Given the description of an element on the screen output the (x, y) to click on. 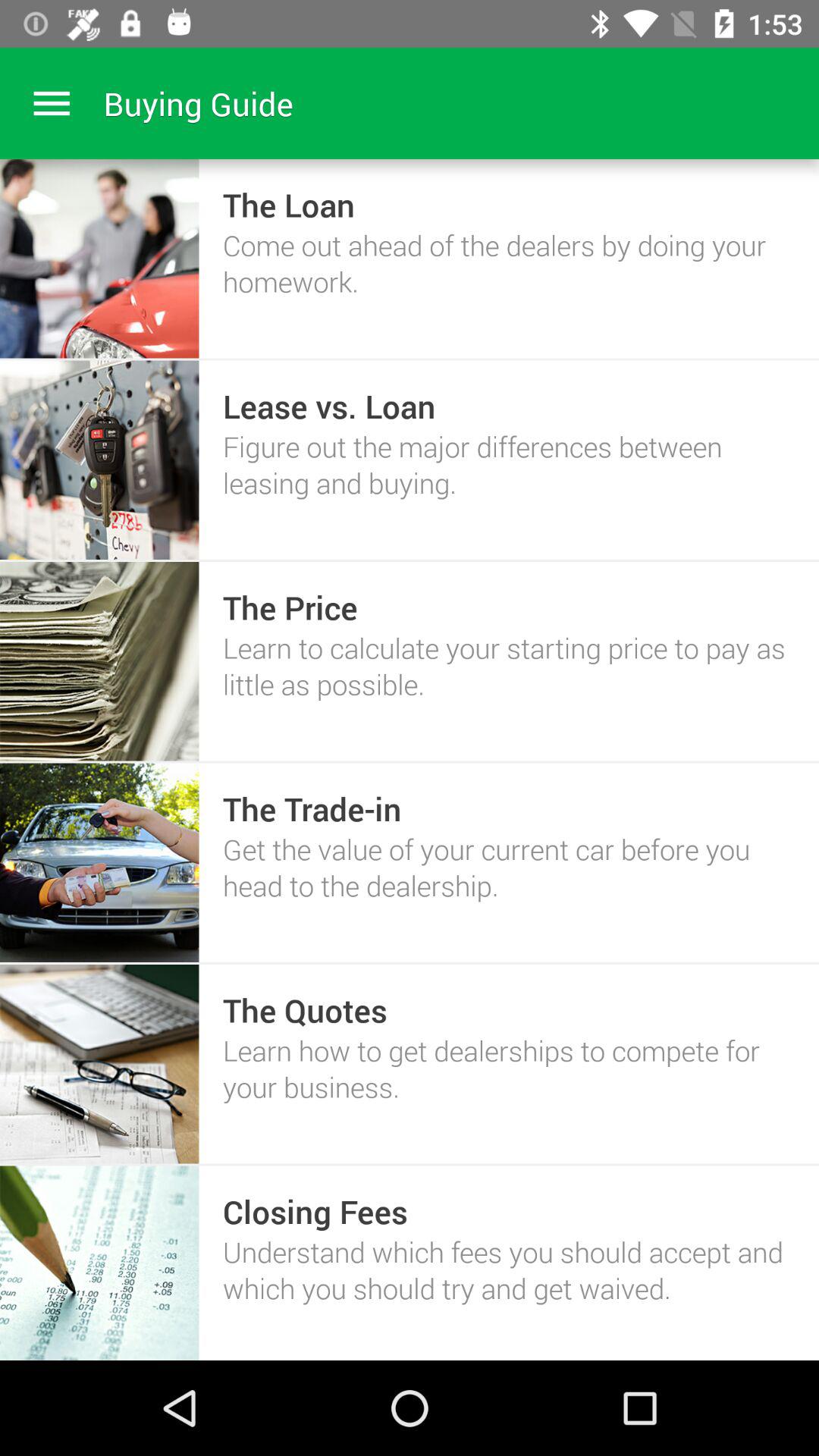
press the item below figure out the item (289, 607)
